Given the description of an element on the screen output the (x, y) to click on. 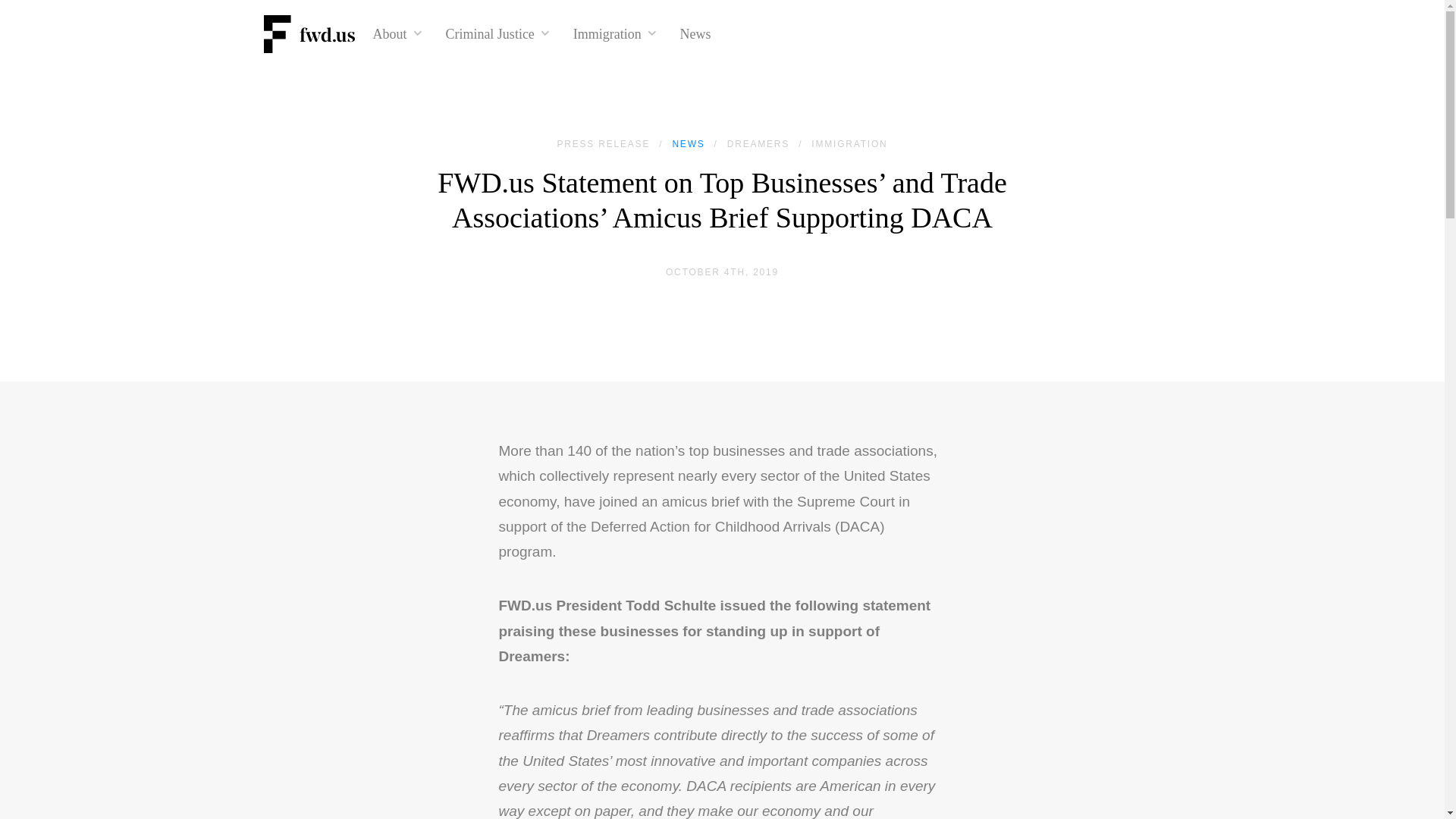
DREAMERS (757, 143)
News (695, 34)
IMMIGRATION (848, 143)
amicus brief with the Supreme Court (778, 501)
NEWS (687, 143)
PRESS RELEASE (602, 143)
Immigration (614, 34)
About (397, 34)
Criminal Justice (496, 34)
